Given the description of an element on the screen output the (x, y) to click on. 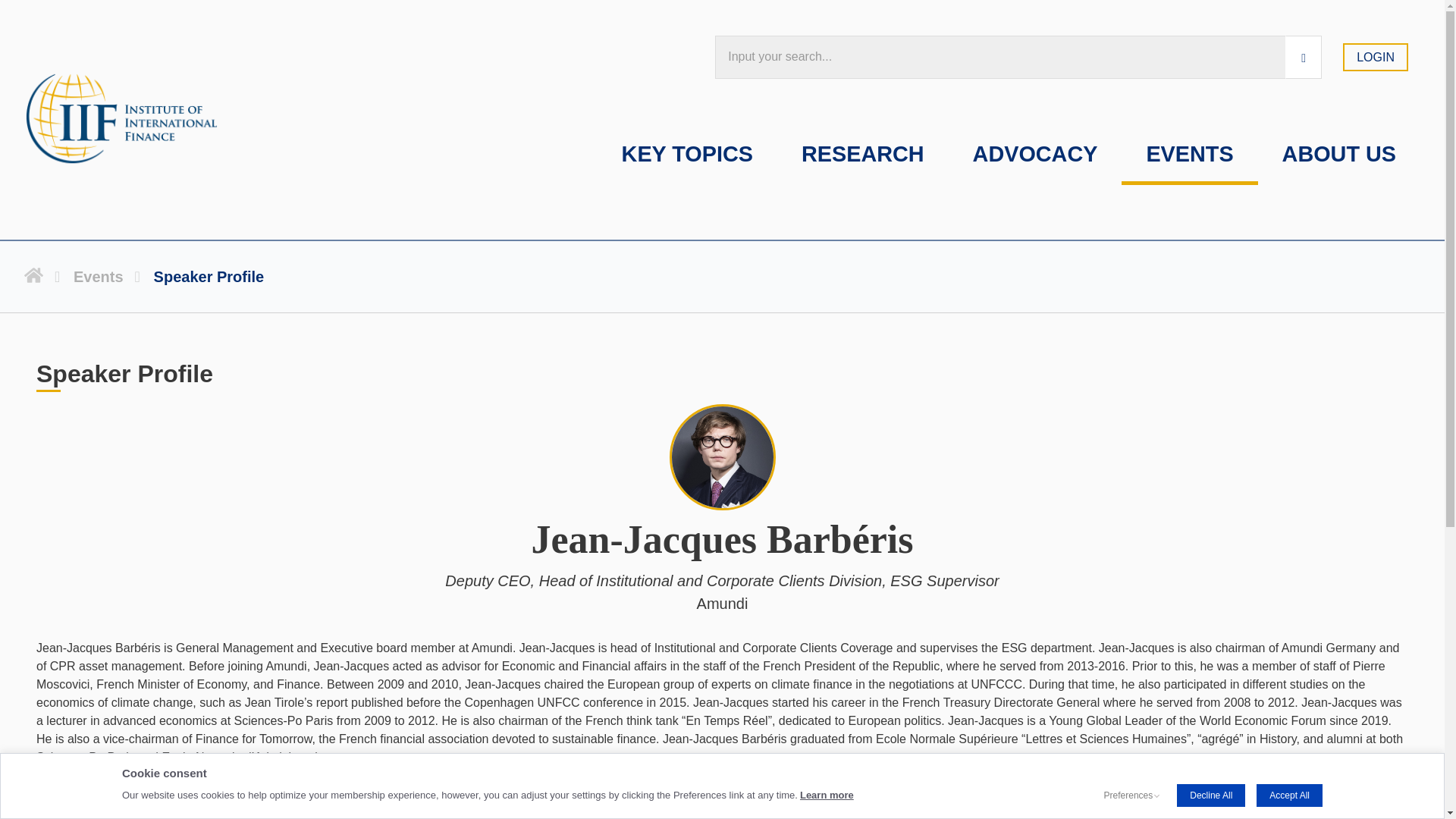
LOGIN (1374, 57)
Back to home page (44, 276)
EVENTS (1189, 155)
ADVOCACY (1035, 155)
RESEARCH (863, 155)
Events (108, 276)
KEY TOPICS (686, 155)
search input (999, 57)
Back to home page (44, 276)
Return to Meeting (87, 775)
